Given the description of an element on the screen output the (x, y) to click on. 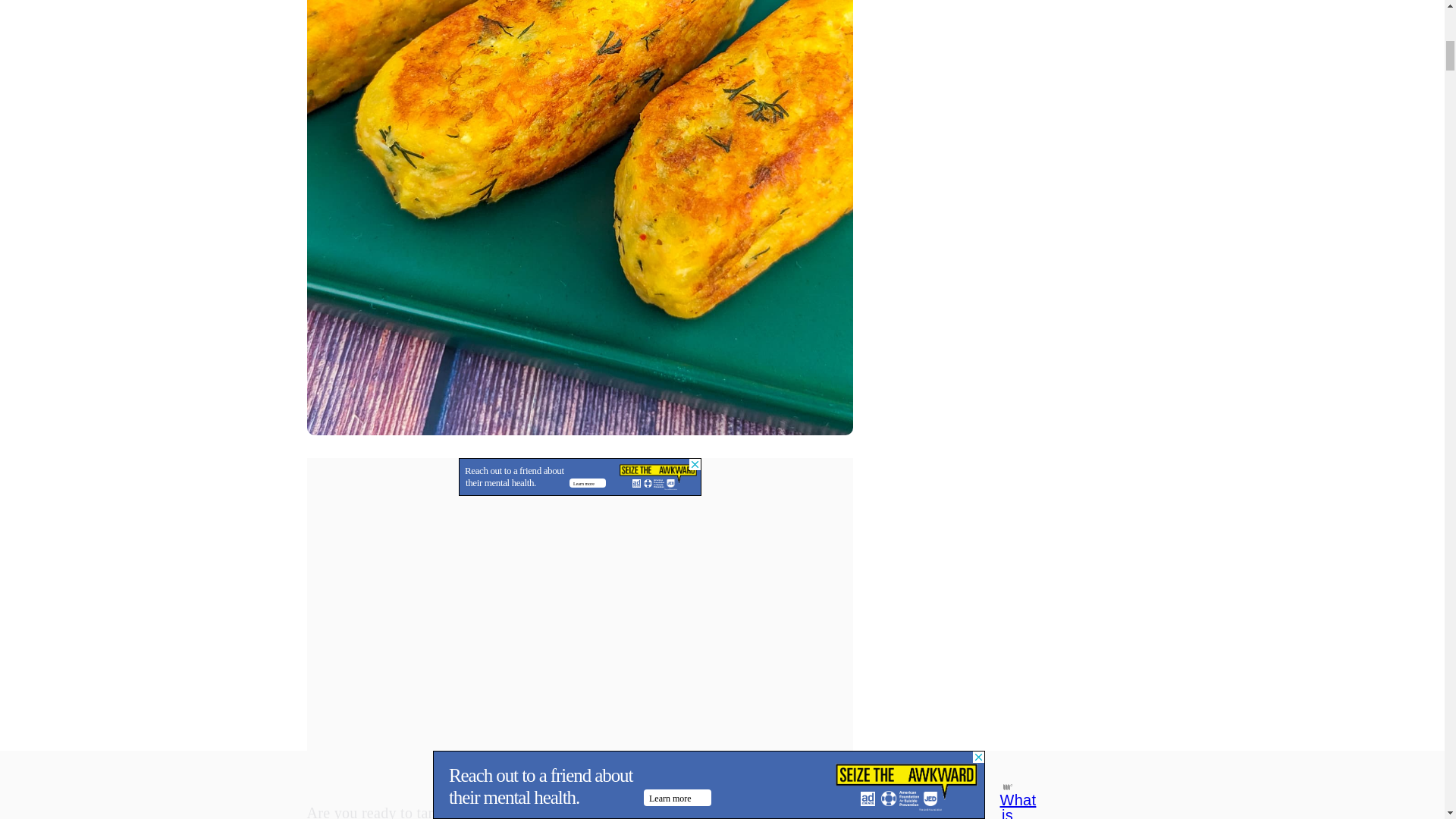
3rd party ad content (579, 476)
